Given the description of an element on the screen output the (x, y) to click on. 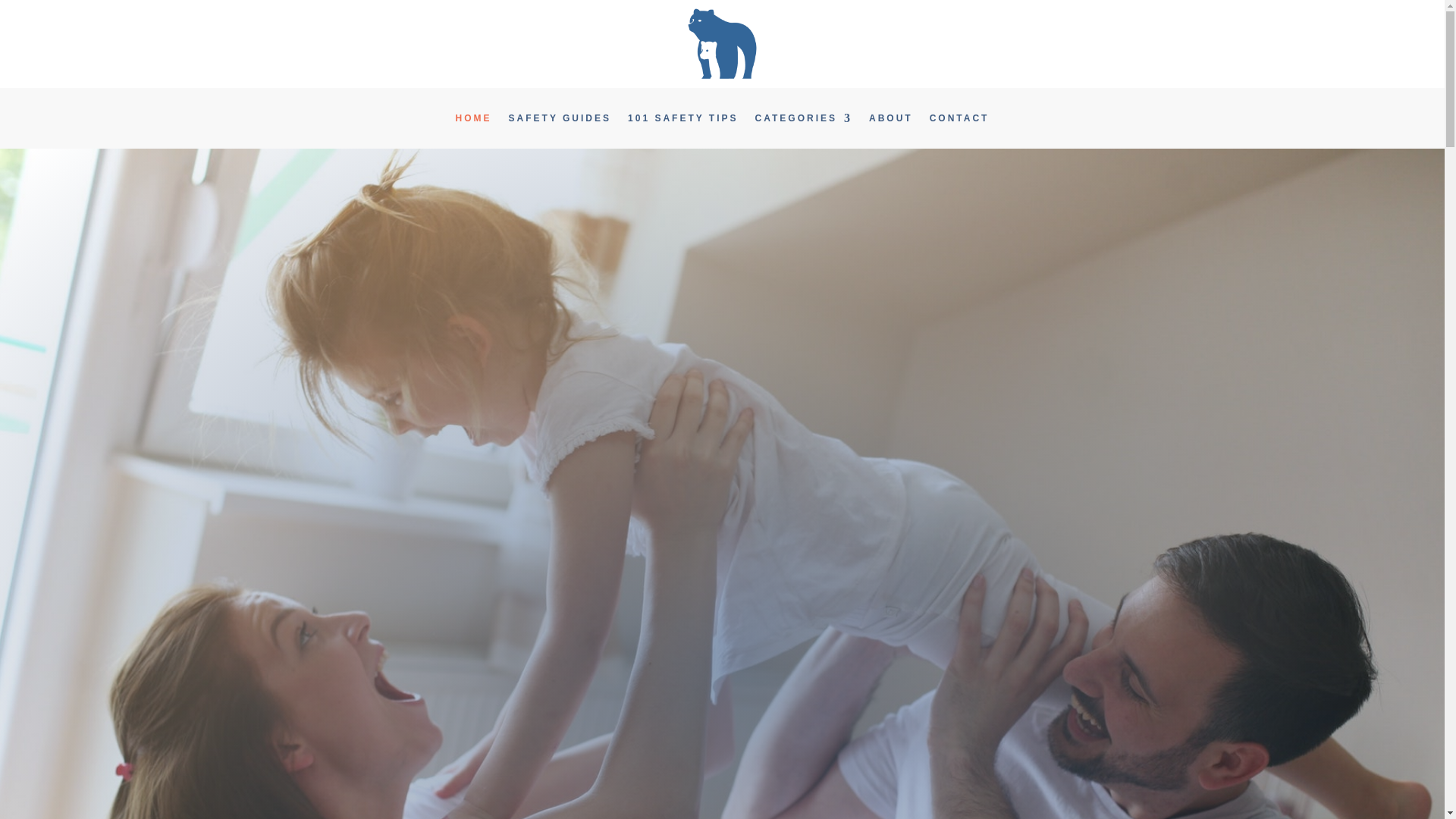
CONTACT (960, 121)
ABOUT (890, 121)
101 SAFETY TIPS (682, 121)
CATEGORIES (803, 121)
SAFETY GUIDES (559, 121)
HOME (473, 121)
